Given the description of an element on the screen output the (x, y) to click on. 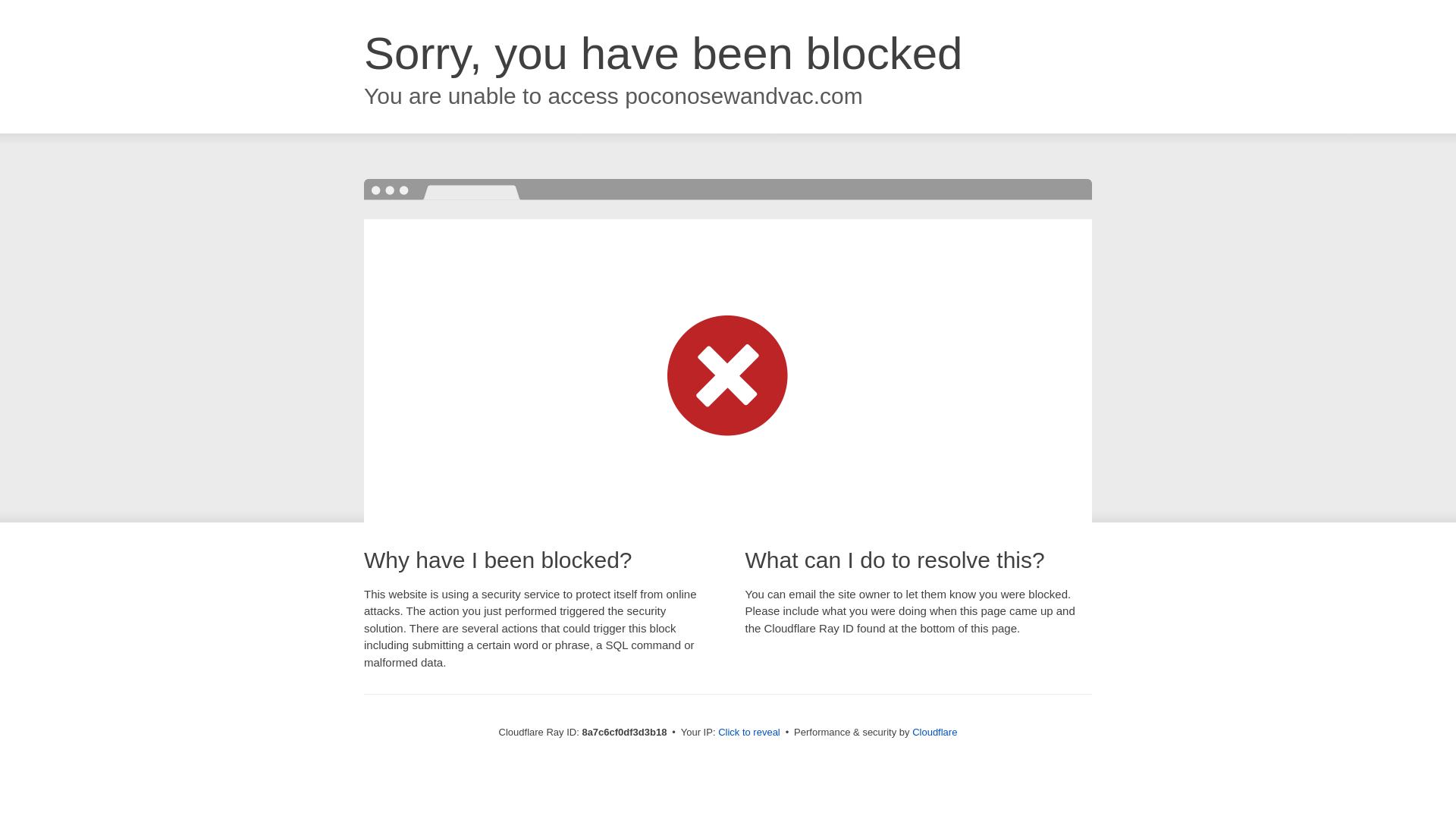
Cloudflare (934, 731)
Click to reveal (748, 732)
